Given the description of an element on the screen output the (x, y) to click on. 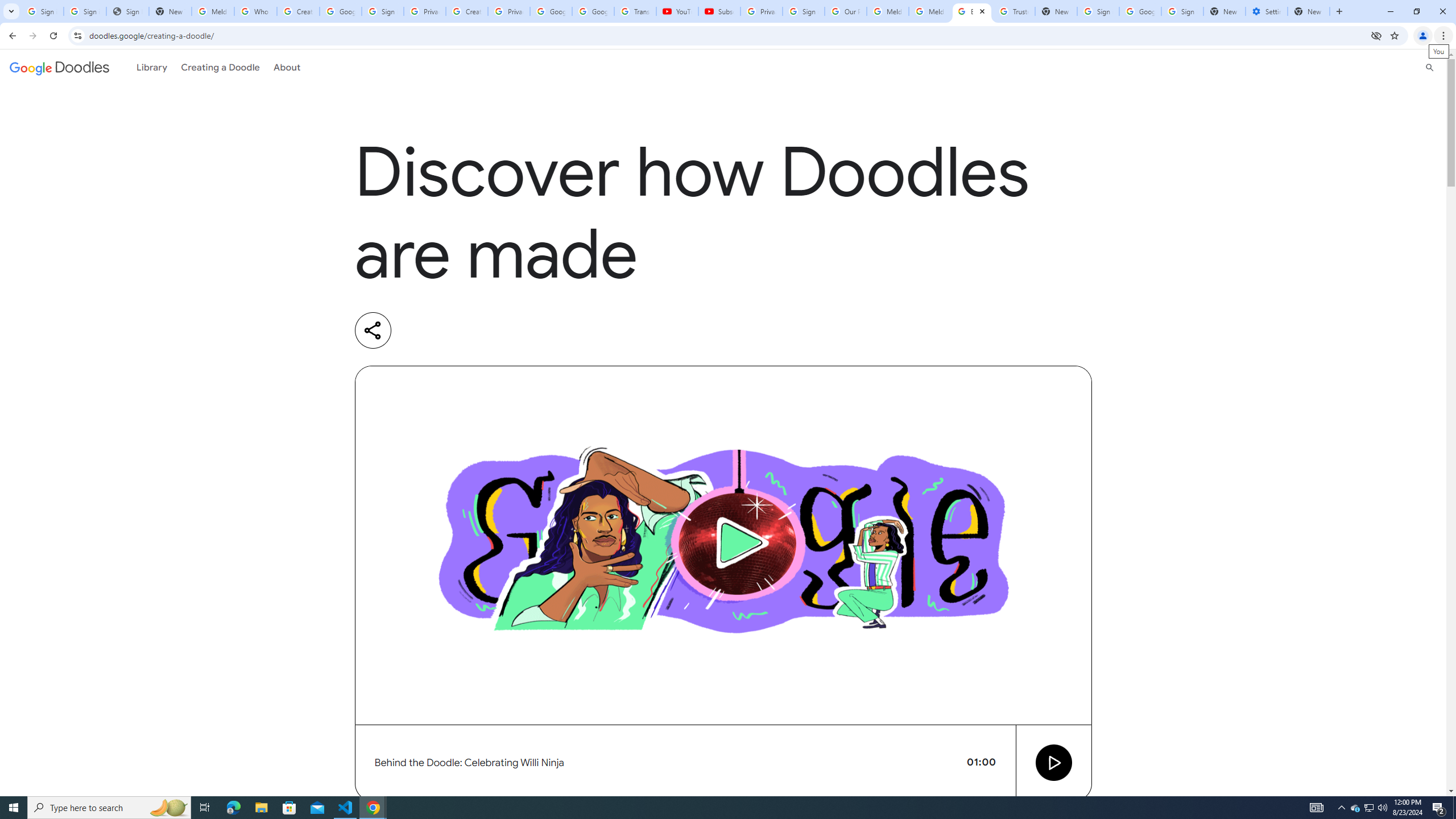
YouTube (676, 11)
Library (151, 67)
Settings - Addresses and more (1266, 11)
Google doodles (59, 67)
Share on twitter (465, 330)
New Tab (1224, 11)
Share on facebook (512, 330)
Sign in - Google Accounts (803, 11)
Sign in - Google Accounts (85, 11)
